Given the description of an element on the screen output the (x, y) to click on. 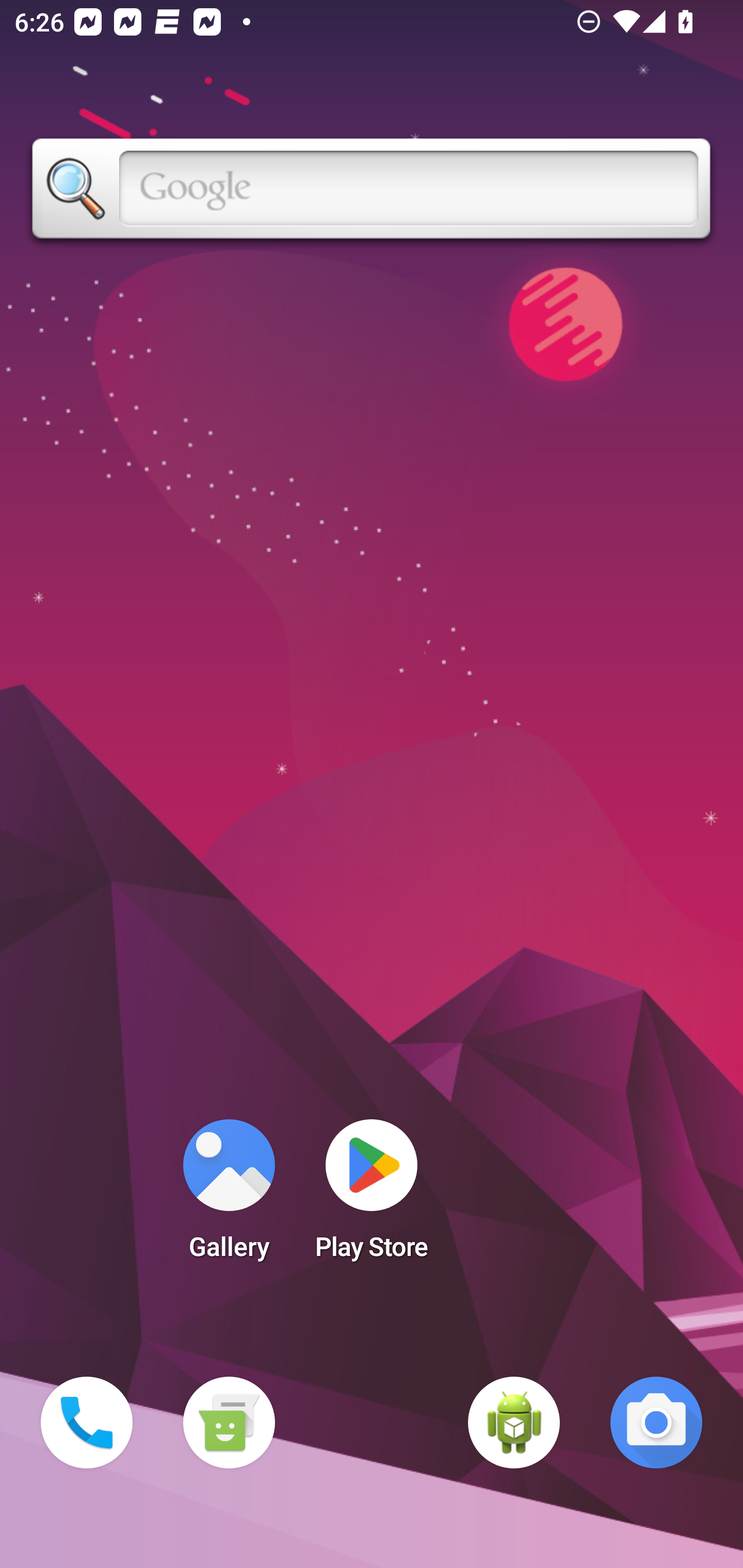
Gallery (228, 1195)
Play Store (371, 1195)
Phone (86, 1422)
Messaging (228, 1422)
WebView Browser Tester (513, 1422)
Camera (656, 1422)
